Given the description of an element on the screen output the (x, y) to click on. 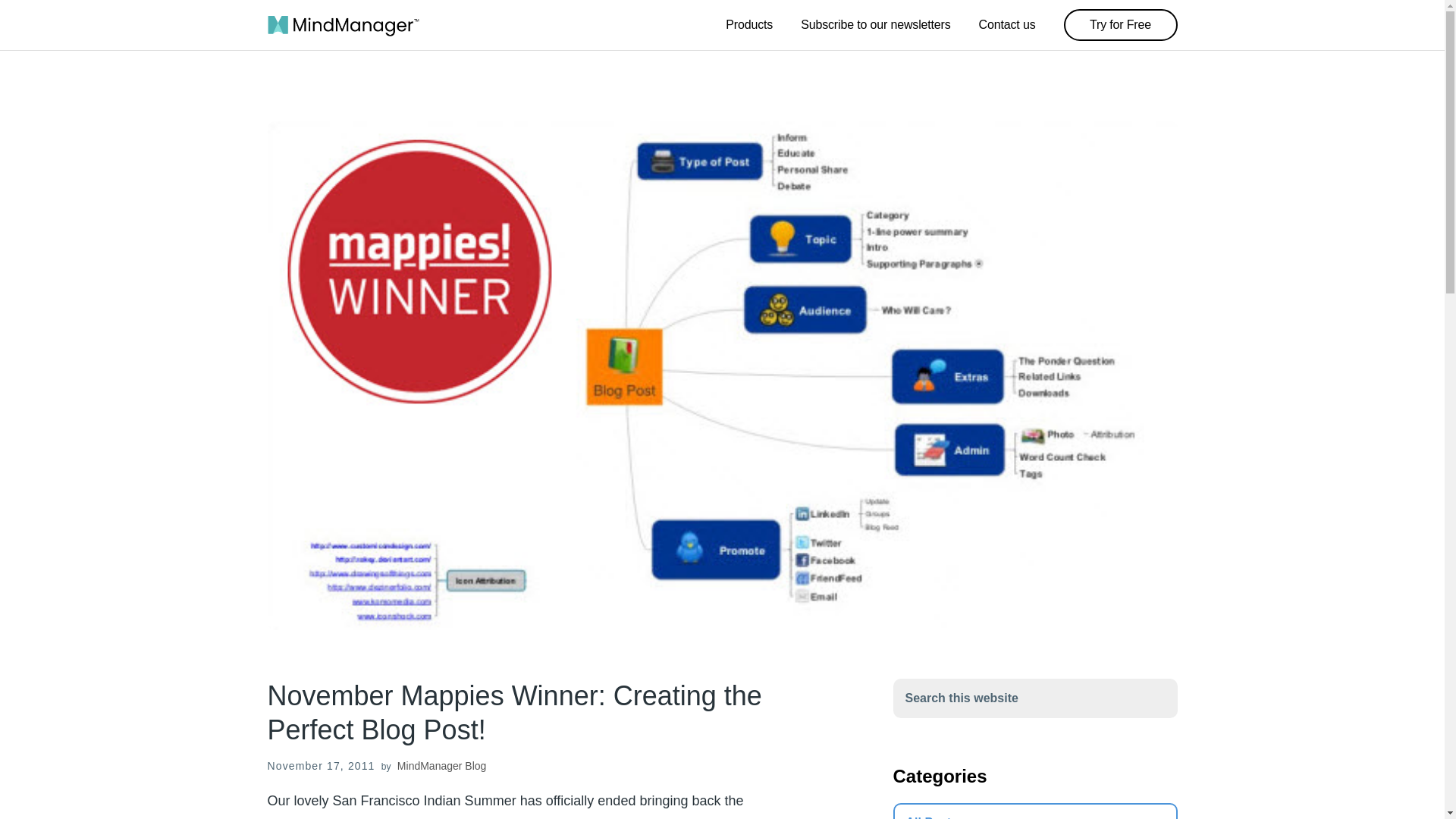
Contact us (1006, 25)
Subscribe to our newsletters (875, 25)
Try for Free (1120, 24)
November Mappies Winner: Creating the Perfect Blog Post! (524, 712)
Products (749, 25)
